Given the description of an element on the screen output the (x, y) to click on. 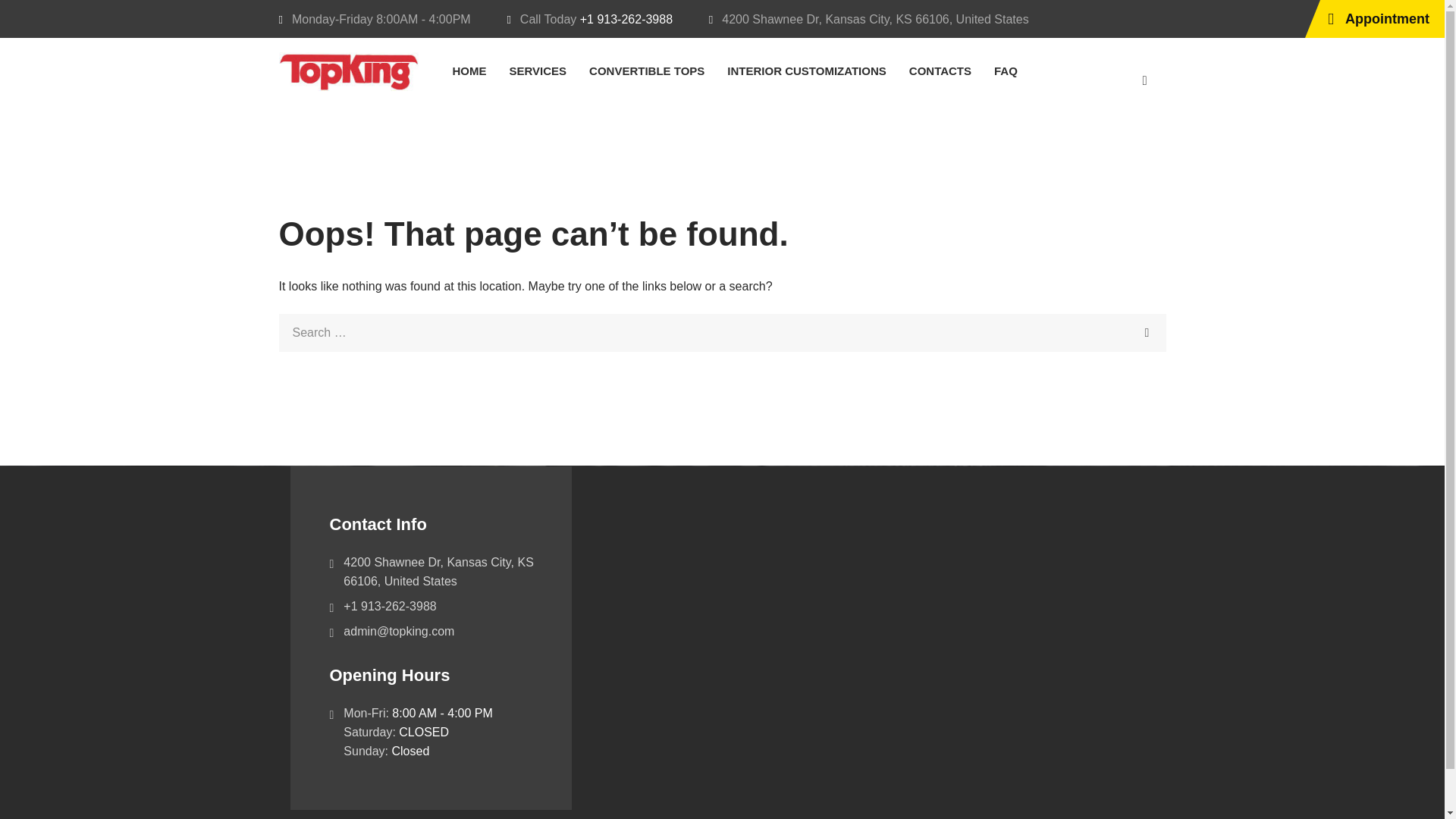
CONVERTIBLE TOPS (647, 70)
FAQ (1005, 70)
INTERIOR CUSTOMIZATIONS (806, 70)
CONTACTS (940, 70)
HOME (469, 70)
SERVICES (537, 70)
